Given the description of an element on the screen output the (x, y) to click on. 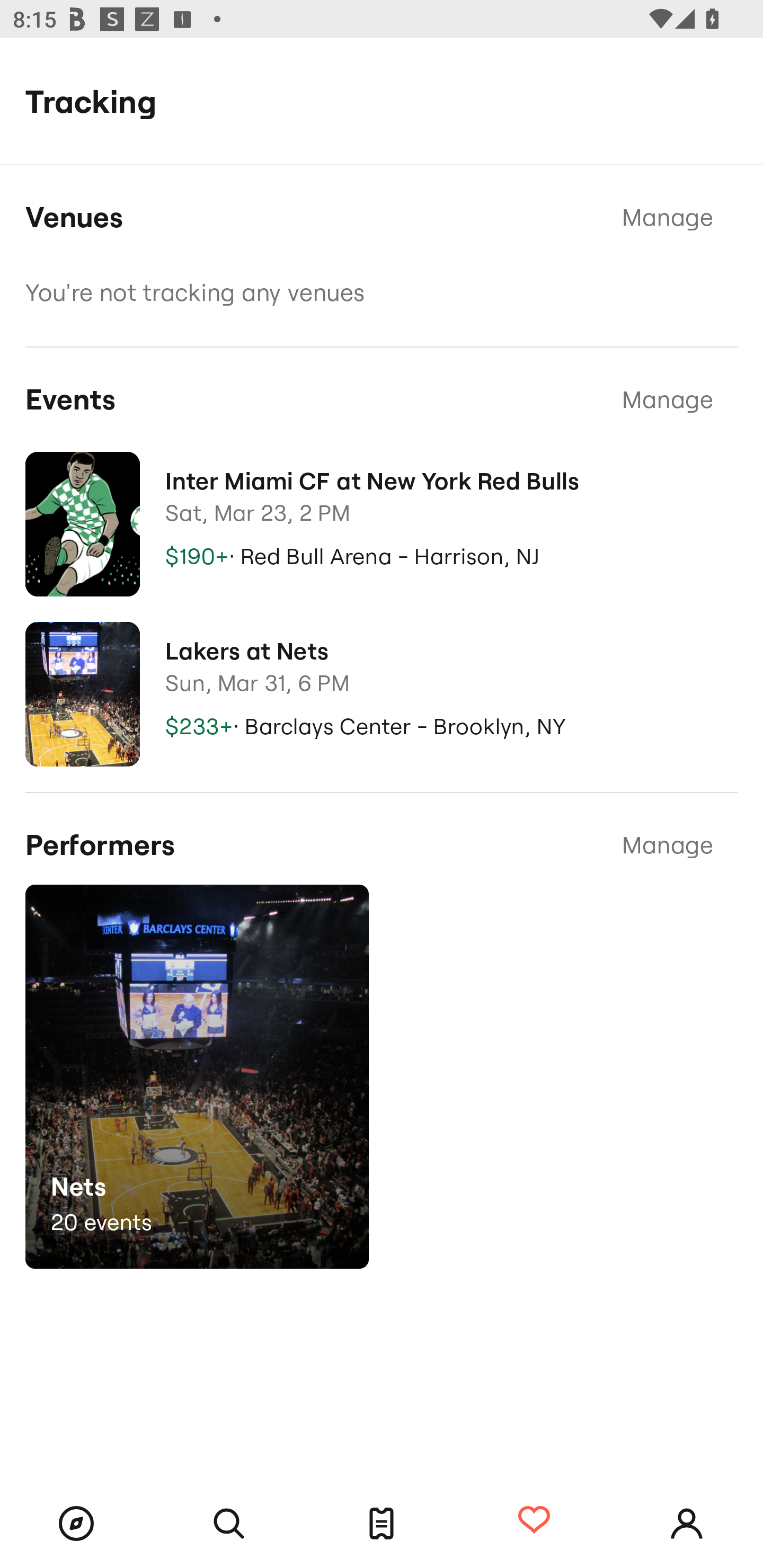
Manage (667, 217)
Manage (667, 399)
Manage (667, 844)
Nets 20 events (196, 1076)
Browse (76, 1523)
Search (228, 1523)
Tickets (381, 1523)
Tracking (533, 1521)
Account (686, 1523)
